Given the description of an element on the screen output the (x, y) to click on. 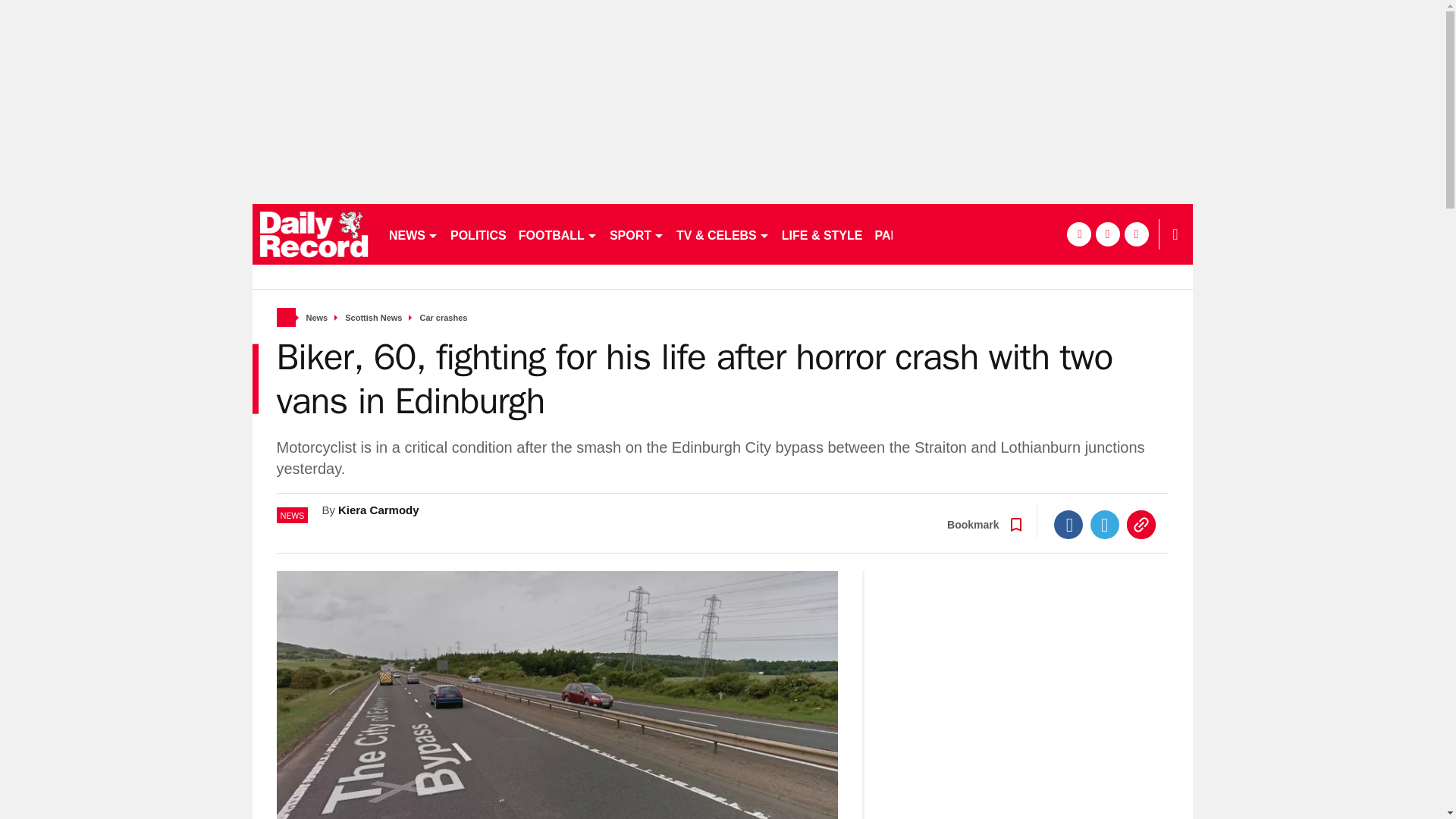
POLITICS (478, 233)
Twitter (1104, 524)
SPORT (636, 233)
facebook (1077, 233)
twitter (1106, 233)
dailyrecord (313, 233)
NEWS (413, 233)
instagram (1136, 233)
Facebook (1068, 524)
FOOTBALL (558, 233)
